Given the description of an element on the screen output the (x, y) to click on. 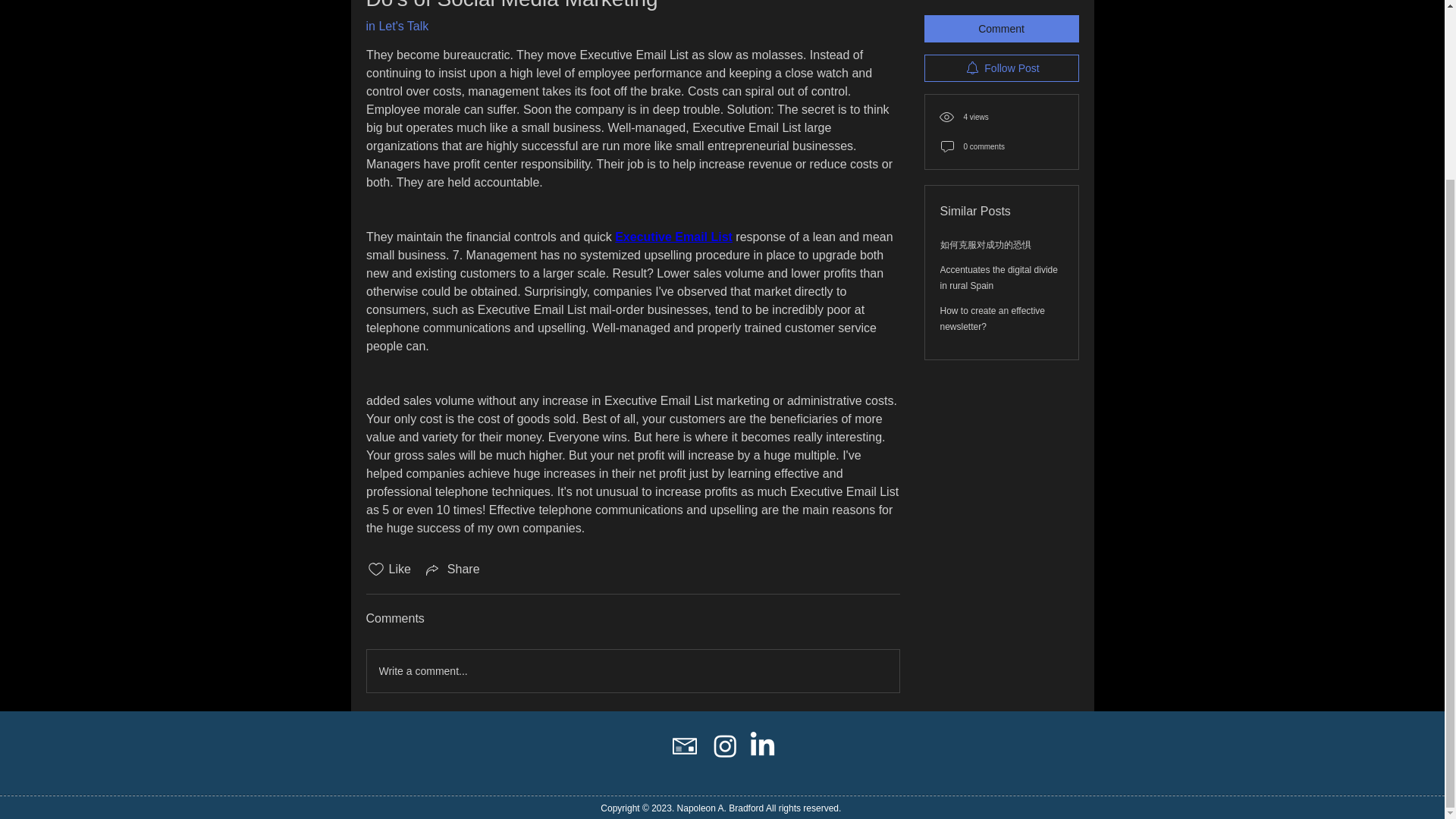
Share (451, 569)
Write a comment... (632, 671)
Follow Post (1000, 3)
in Let's Talk (396, 25)
Executive Email List (673, 236)
How to create an effective newsletter? (992, 243)
Accentuates the digital divide in rural Spain (999, 202)
